Given the description of an element on the screen output the (x, y) to click on. 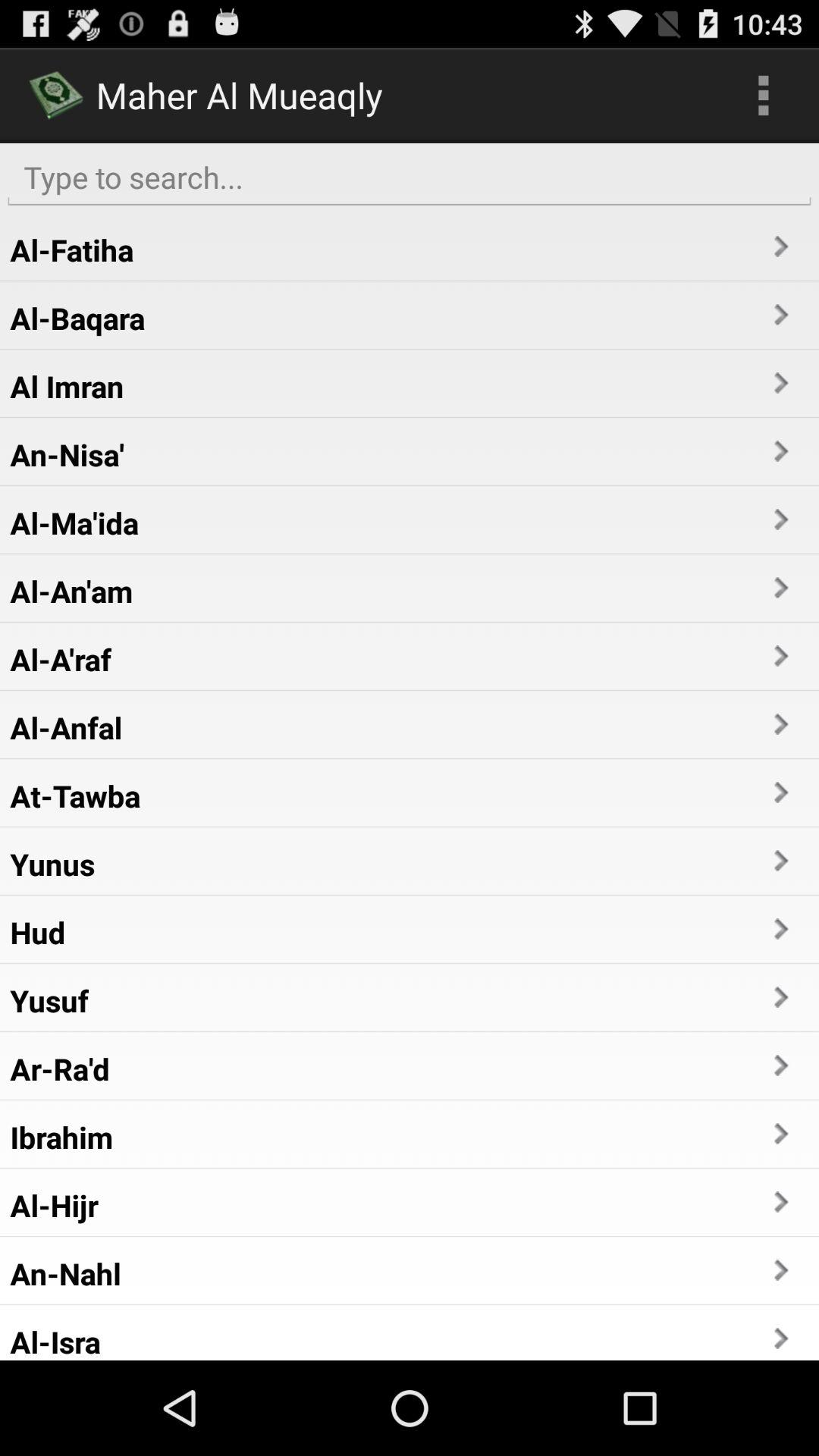
scroll until at-tawba app (75, 795)
